Given the description of an element on the screen output the (x, y) to click on. 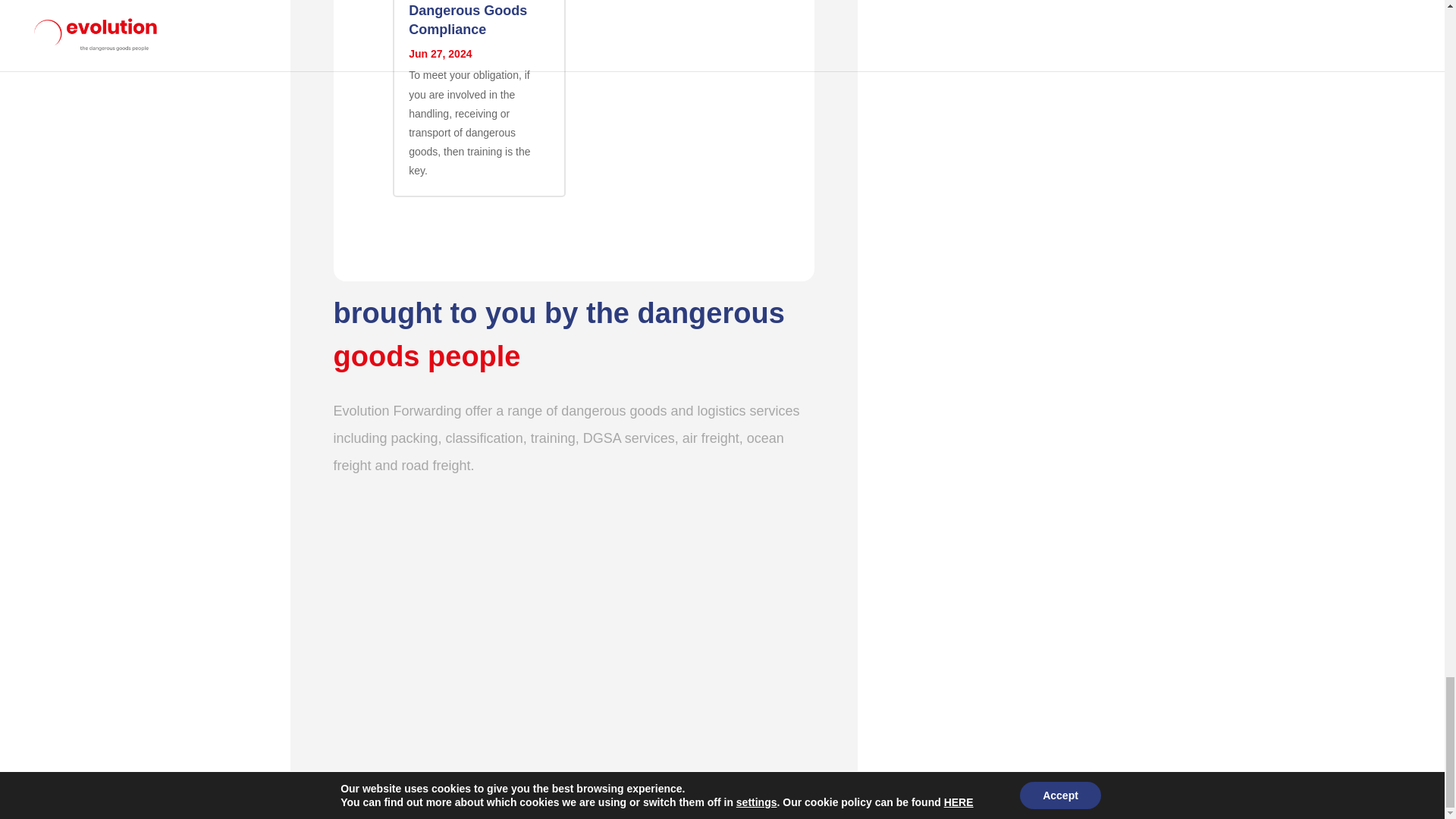
Online Training For Dangerous Goods Compliance (471, 18)
The dangerous goods people (574, 624)
